Given the description of an element on the screen output the (x, y) to click on. 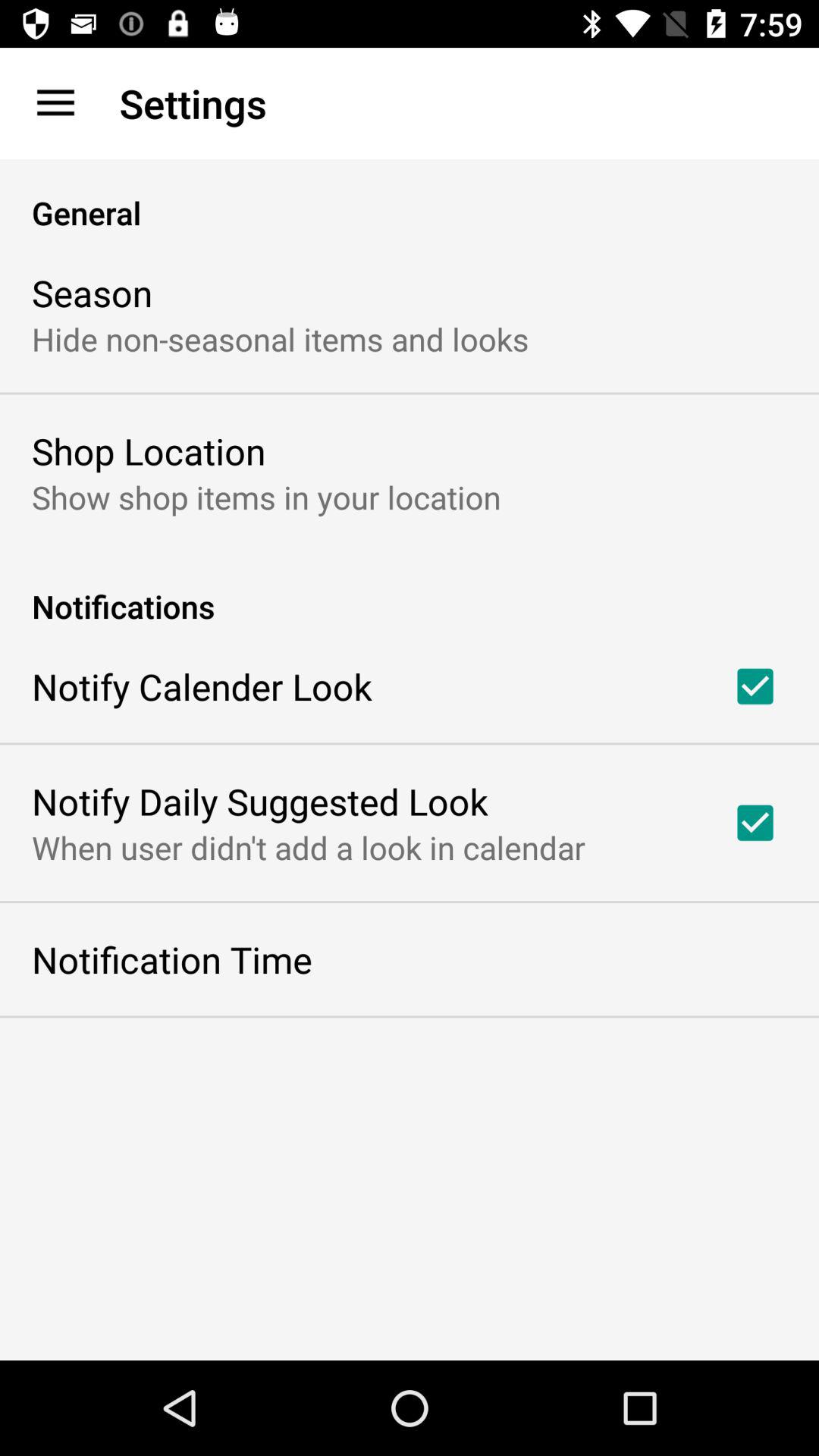
open item to the left of settings item (55, 103)
